Given the description of an element on the screen output the (x, y) to click on. 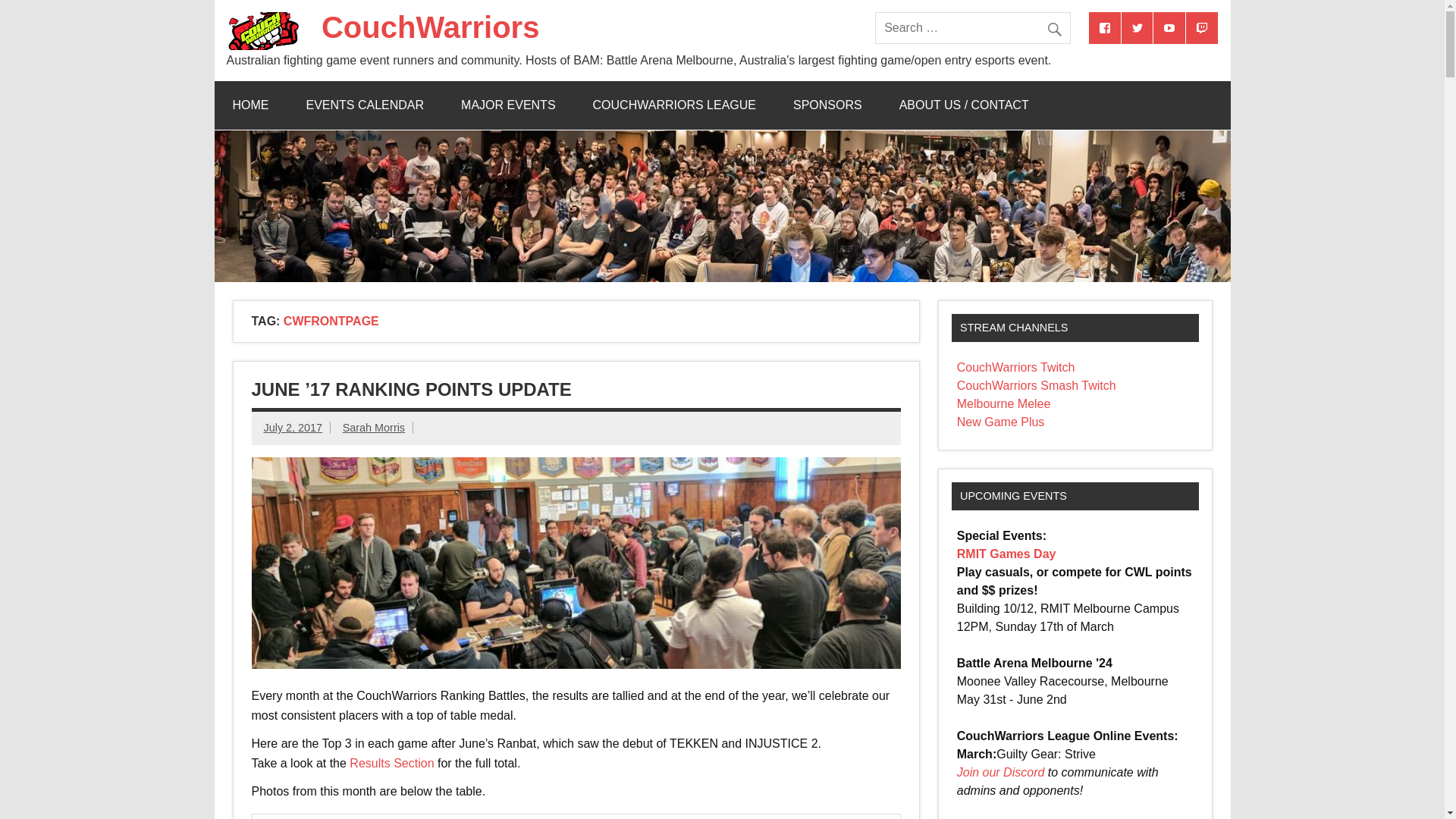
View all posts by Sarah Morris (373, 427)
July 2, 2017 (293, 427)
2:10 pm (293, 427)
SPONSORS (827, 105)
MAJOR EVENTS (507, 105)
HOME (250, 105)
EVENTS CALENDAR (365, 105)
Results Section (391, 762)
COUCHWARRIORS LEAGUE (674, 105)
Sarah Morris (373, 427)
CouchWarriors (429, 27)
